Given the description of an element on the screen output the (x, y) to click on. 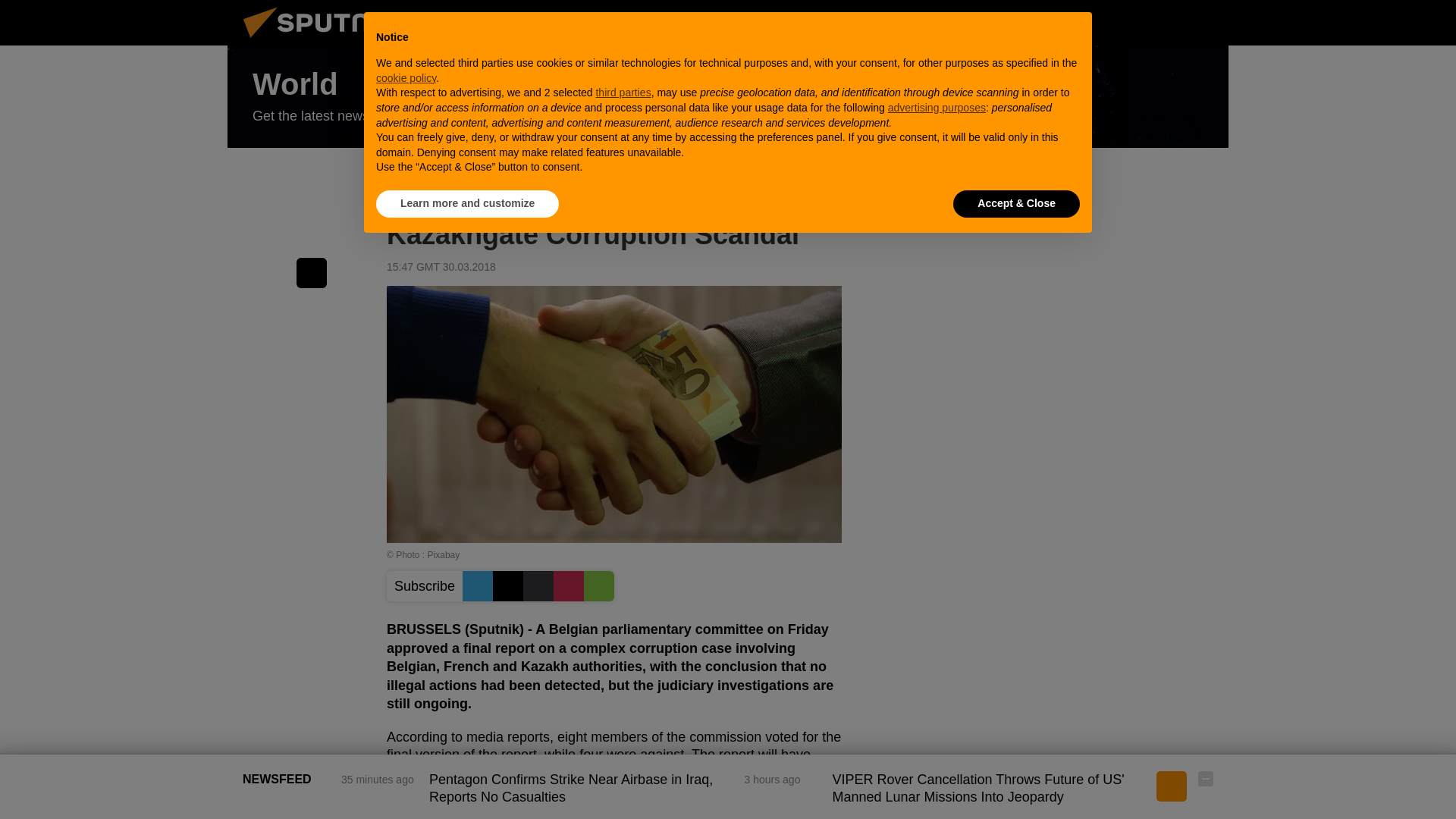
Sputnik International (325, 41)
World (727, 96)
Chats (1206, 22)
Authorization (1129, 22)
